Given the description of an element on the screen output the (x, y) to click on. 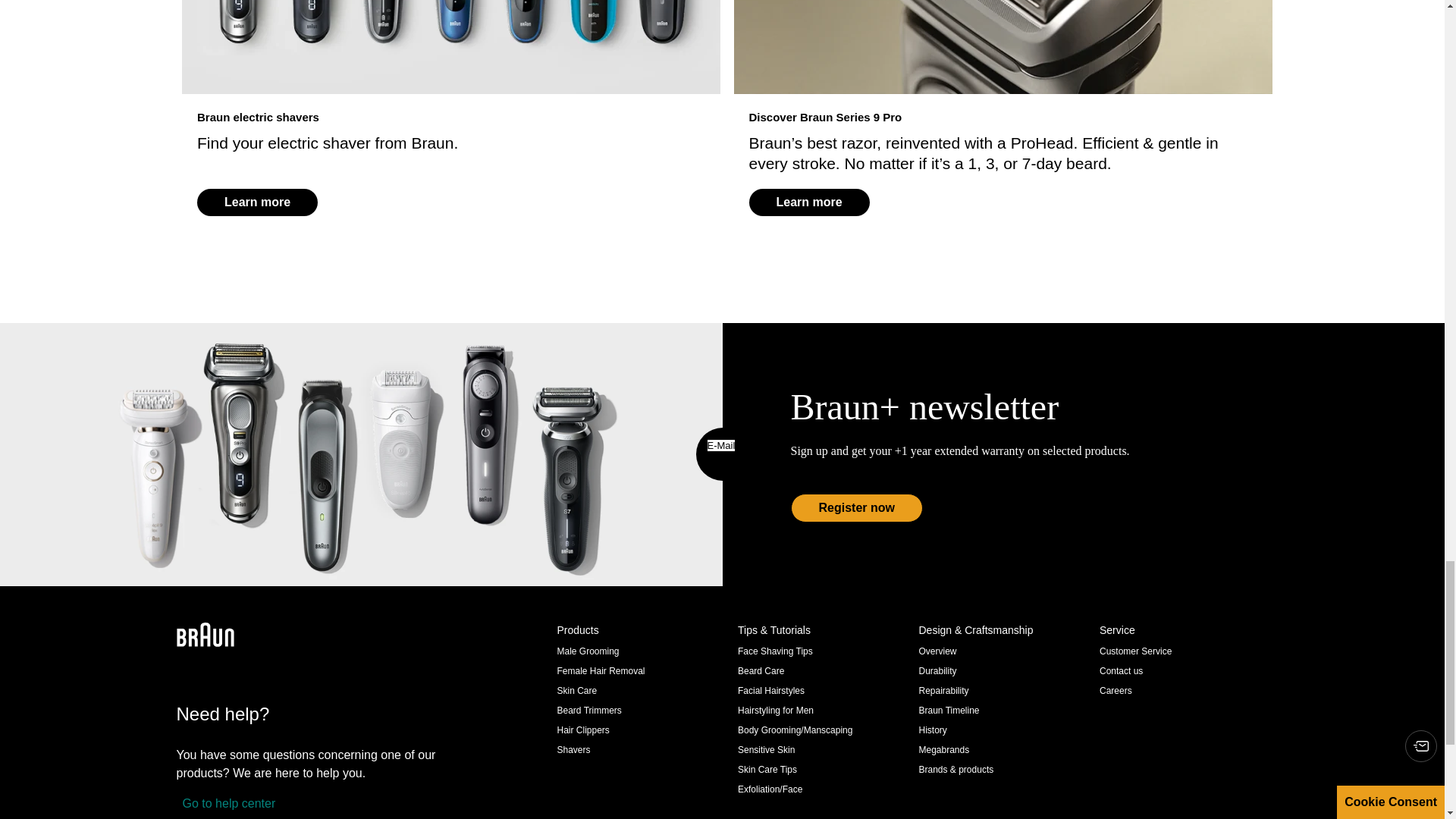
Learn more (809, 202)
Male Grooming (587, 651)
Female Hair Removal (600, 670)
Go to help center (225, 803)
Braun electric shavers (452, 47)
Learn more (256, 202)
Products (640, 630)
Register now (855, 507)
